Given the description of an element on the screen output the (x, y) to click on. 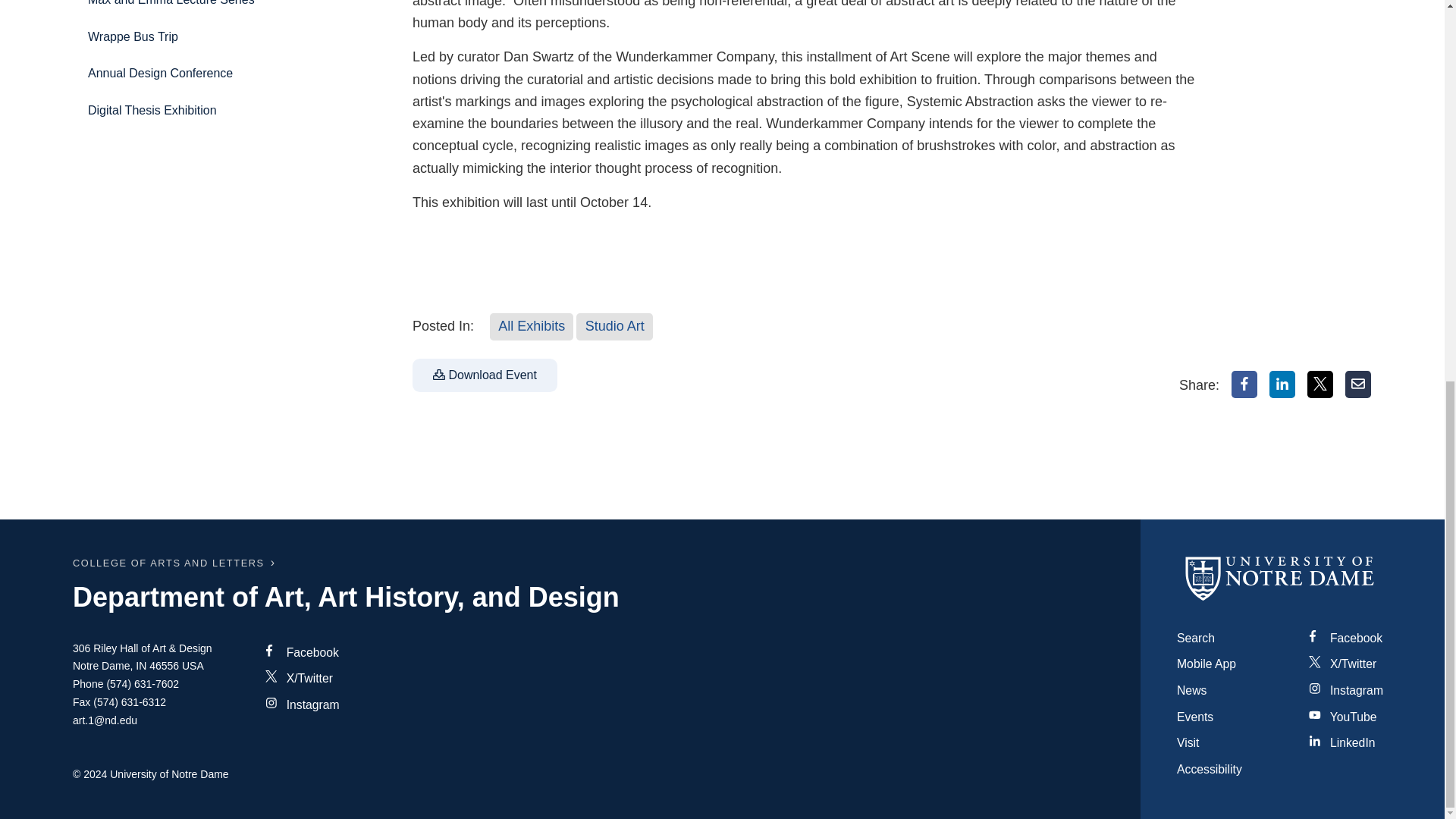
Facebook (1244, 384)
LinkedIn (1282, 384)
All Exhibits (531, 326)
Email (1358, 384)
